Given the description of an element on the screen output the (x, y) to click on. 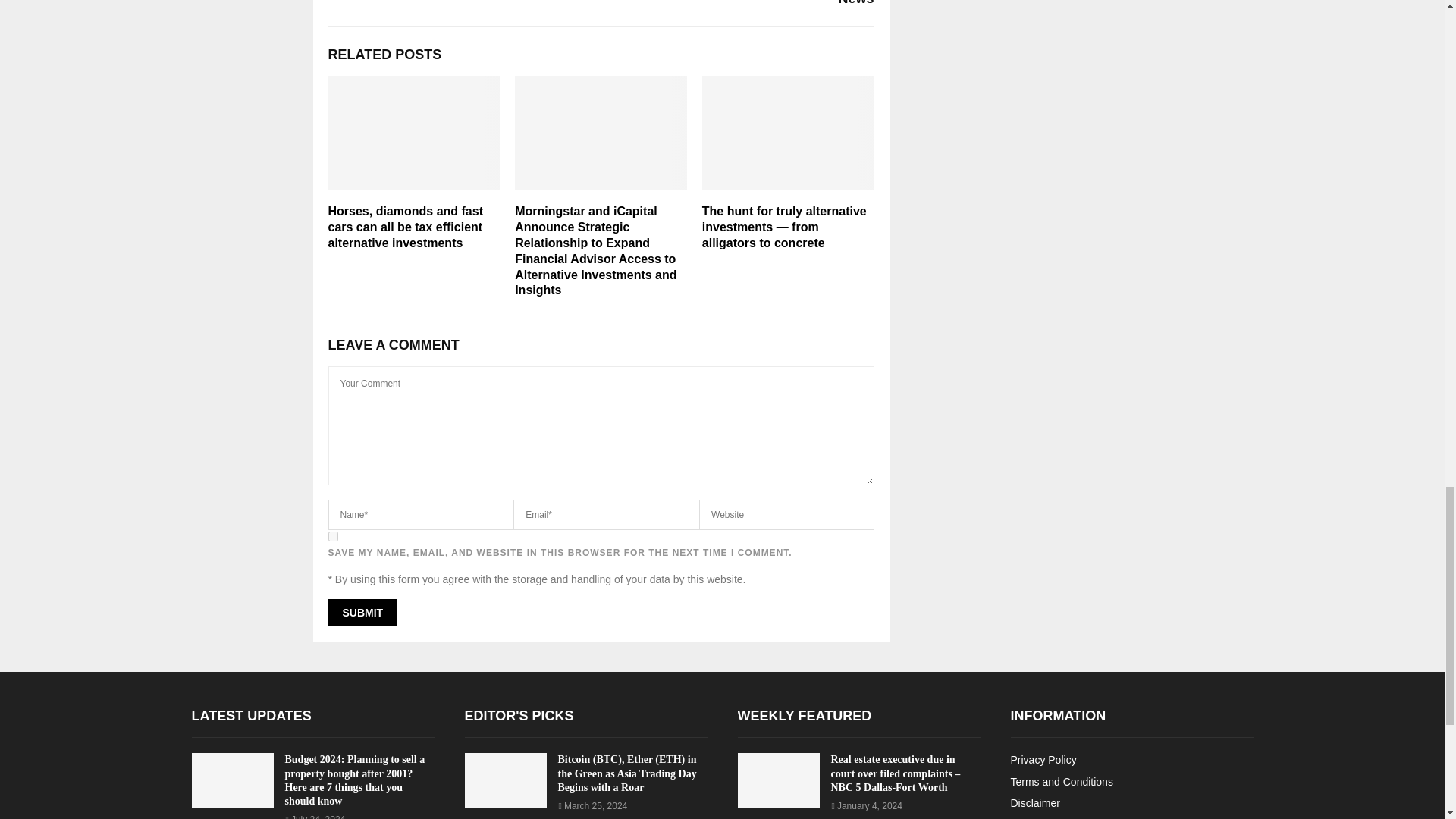
Submit (362, 612)
yes (332, 536)
